Given the description of an element on the screen output the (x, y) to click on. 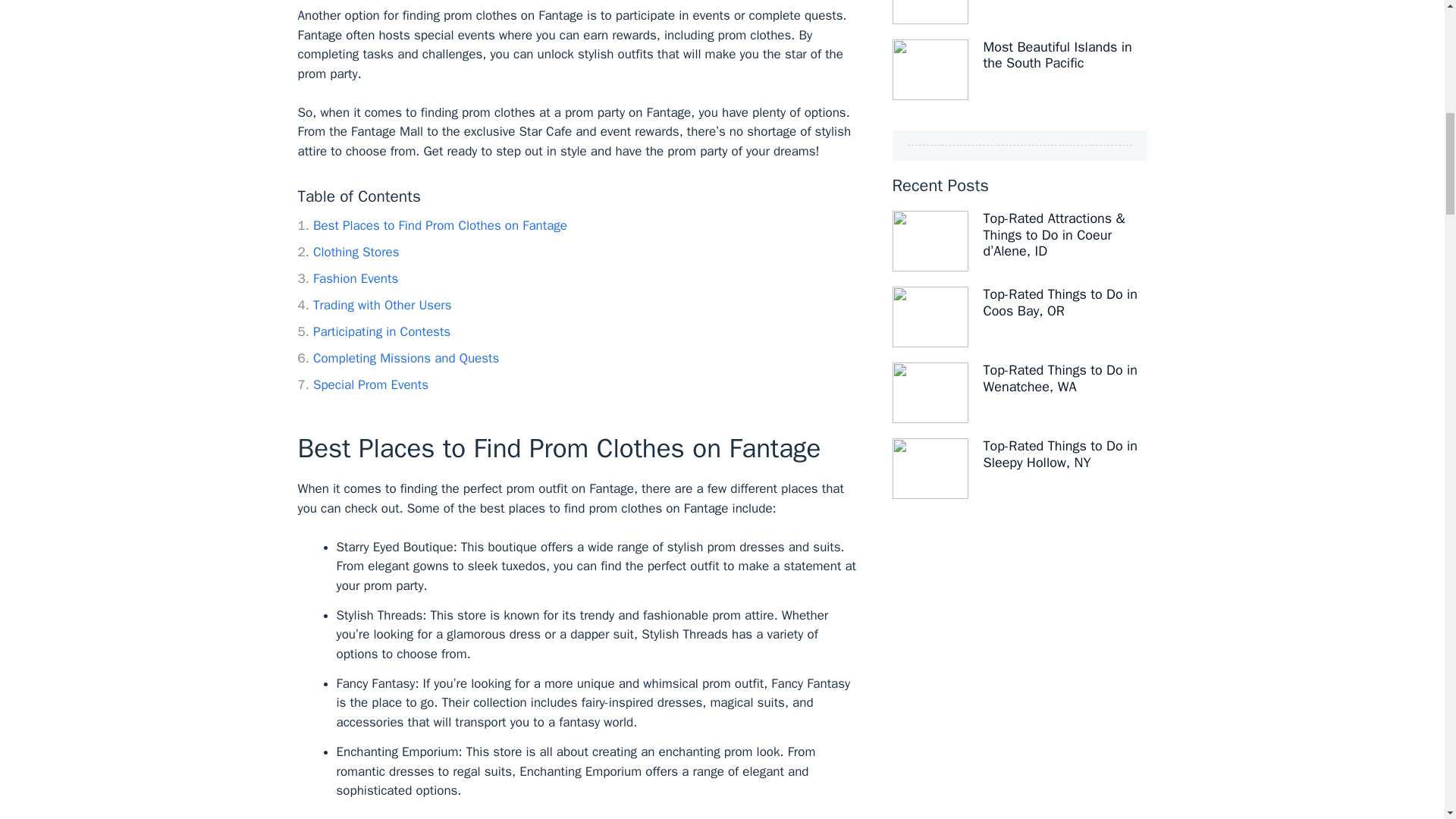
Scroll back to top (1423, 737)
Completing Missions and Quests (398, 357)
Participating in Contests (373, 331)
Special Prom Events (362, 384)
Best Places to Find Prom Clothes on Fantage (432, 225)
Trading with Other Users (374, 304)
Fashion Events (347, 278)
Clothing Stores (347, 252)
